Given the description of an element on the screen output the (x, y) to click on. 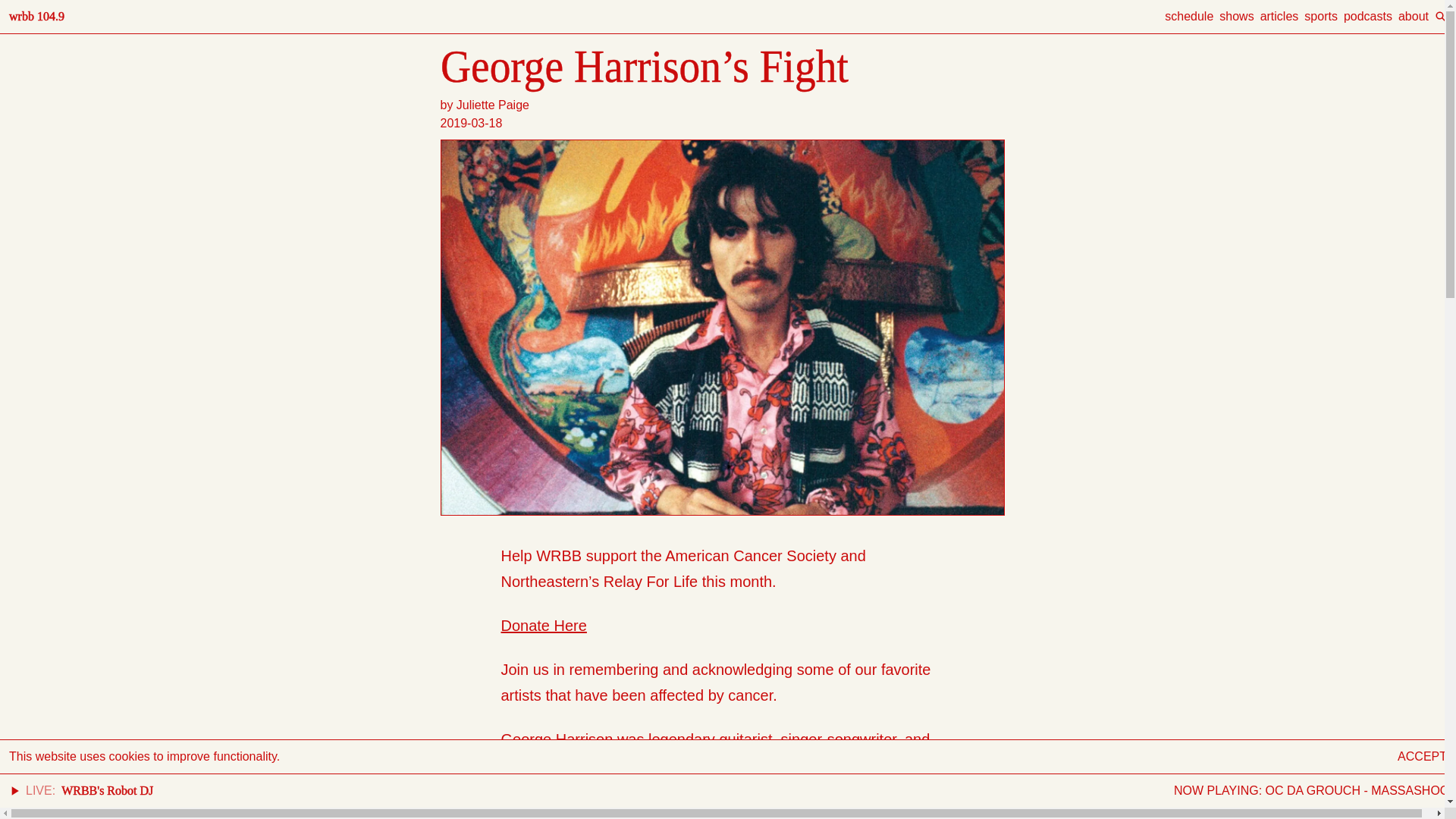
Juliette Paige (493, 104)
articles (1279, 15)
wrbb 104.9 (36, 16)
Donate Here (543, 625)
about (1412, 15)
podcasts (1367, 15)
shows (1236, 15)
schedule (1188, 15)
sports (1321, 16)
